Given the description of an element on the screen output the (x, y) to click on. 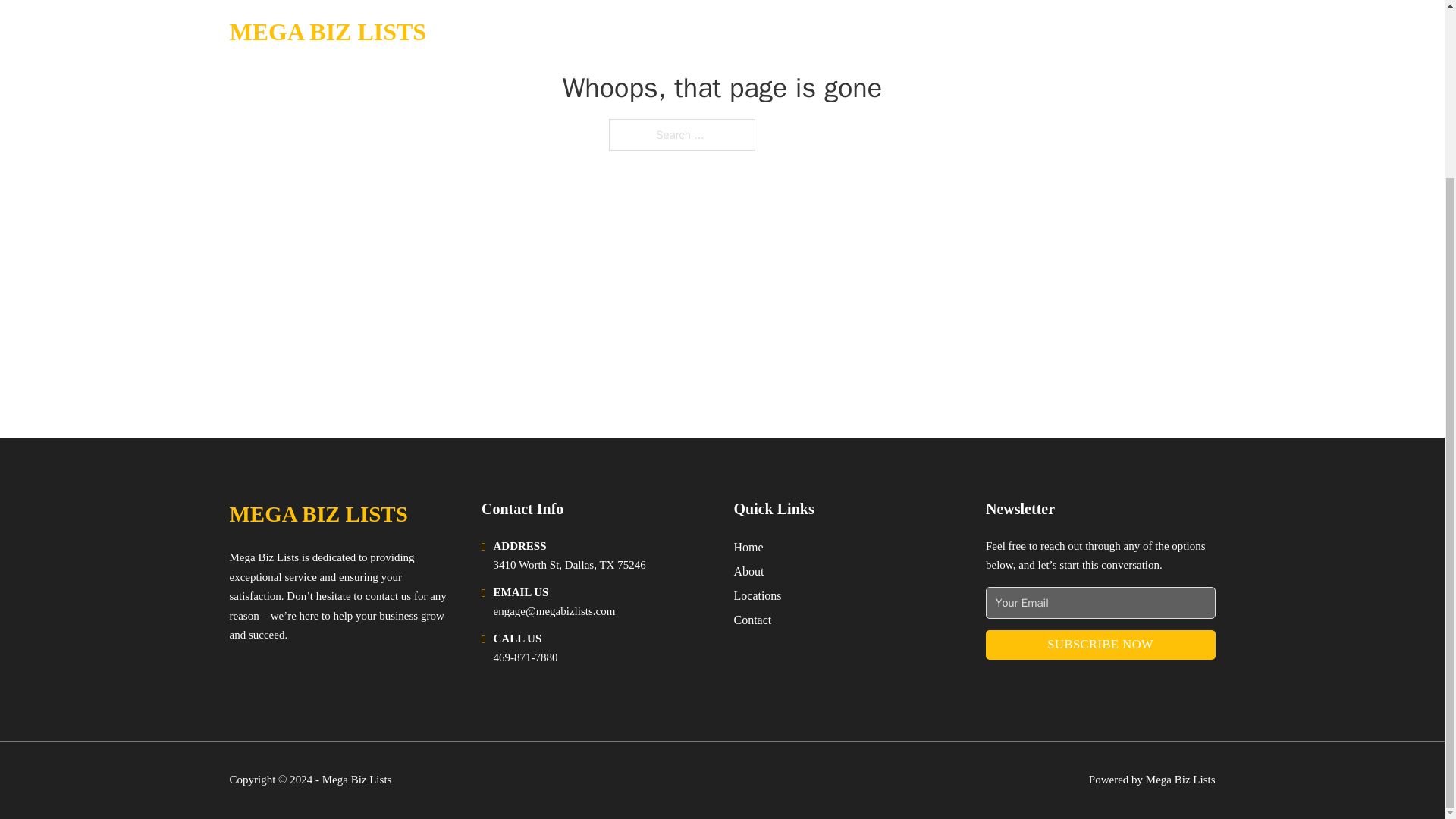
About (748, 571)
MEGA BIZ LISTS (317, 514)
469-871-7880 (525, 657)
SUBSCRIBE NOW (1100, 644)
Contact (752, 619)
Home (747, 547)
Locations (757, 595)
